Given the description of an element on the screen output the (x, y) to click on. 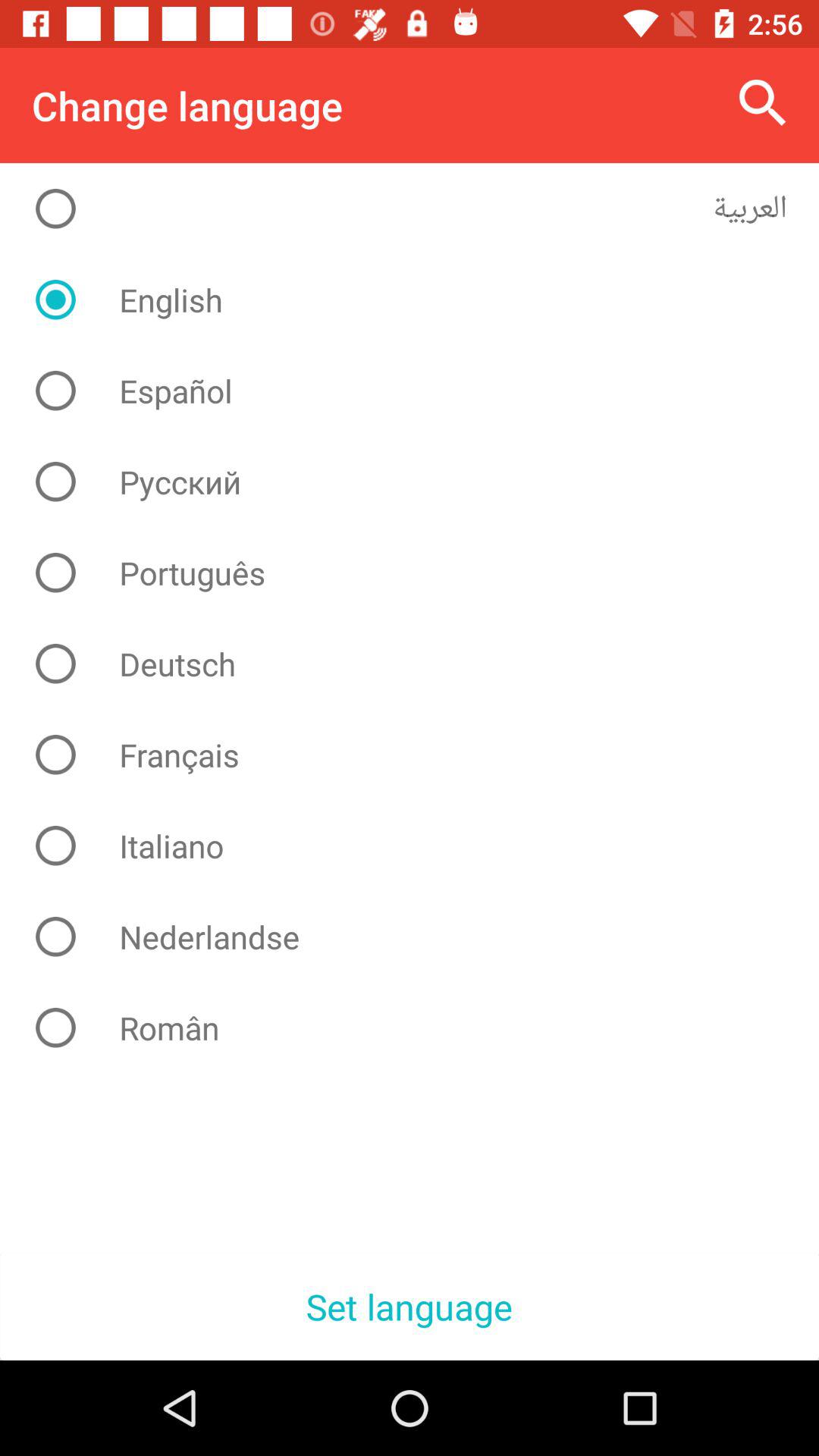
turn off the item below deutsch (421, 754)
